Given the description of an element on the screen output the (x, y) to click on. 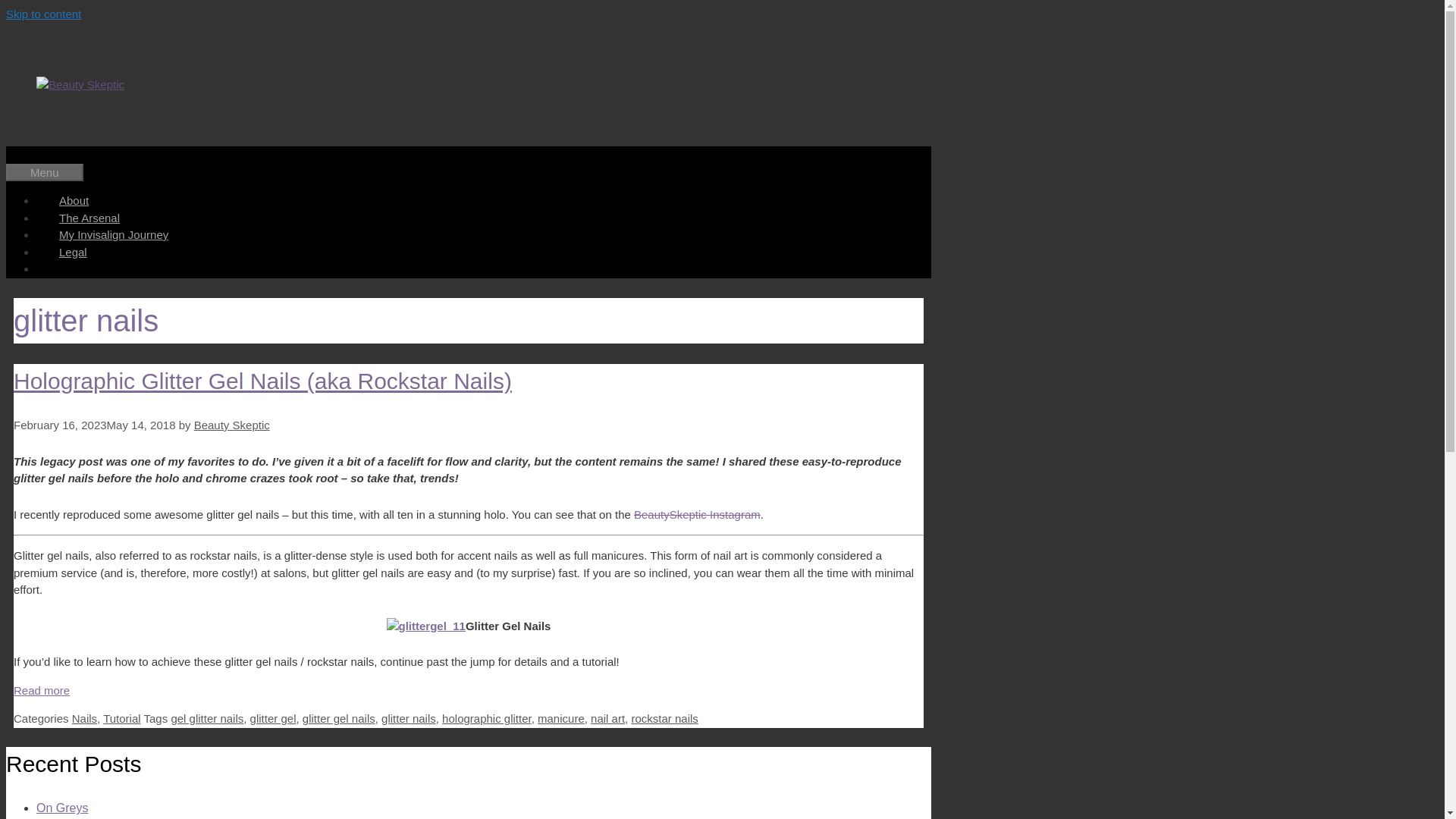
glitter gel nails (338, 717)
Legal (73, 251)
BeautySkeptic Instagram (696, 513)
Skip to content (43, 13)
manicure (561, 717)
Read more (41, 689)
holographic glitter (486, 717)
About (74, 200)
Tutorial (121, 717)
On Greys (61, 807)
Menu (43, 171)
Beauty Skeptic (231, 424)
Nails (84, 717)
View all posts by Beauty Skeptic (231, 424)
rockstar nails (663, 717)
